Given the description of an element on the screen output the (x, y) to click on. 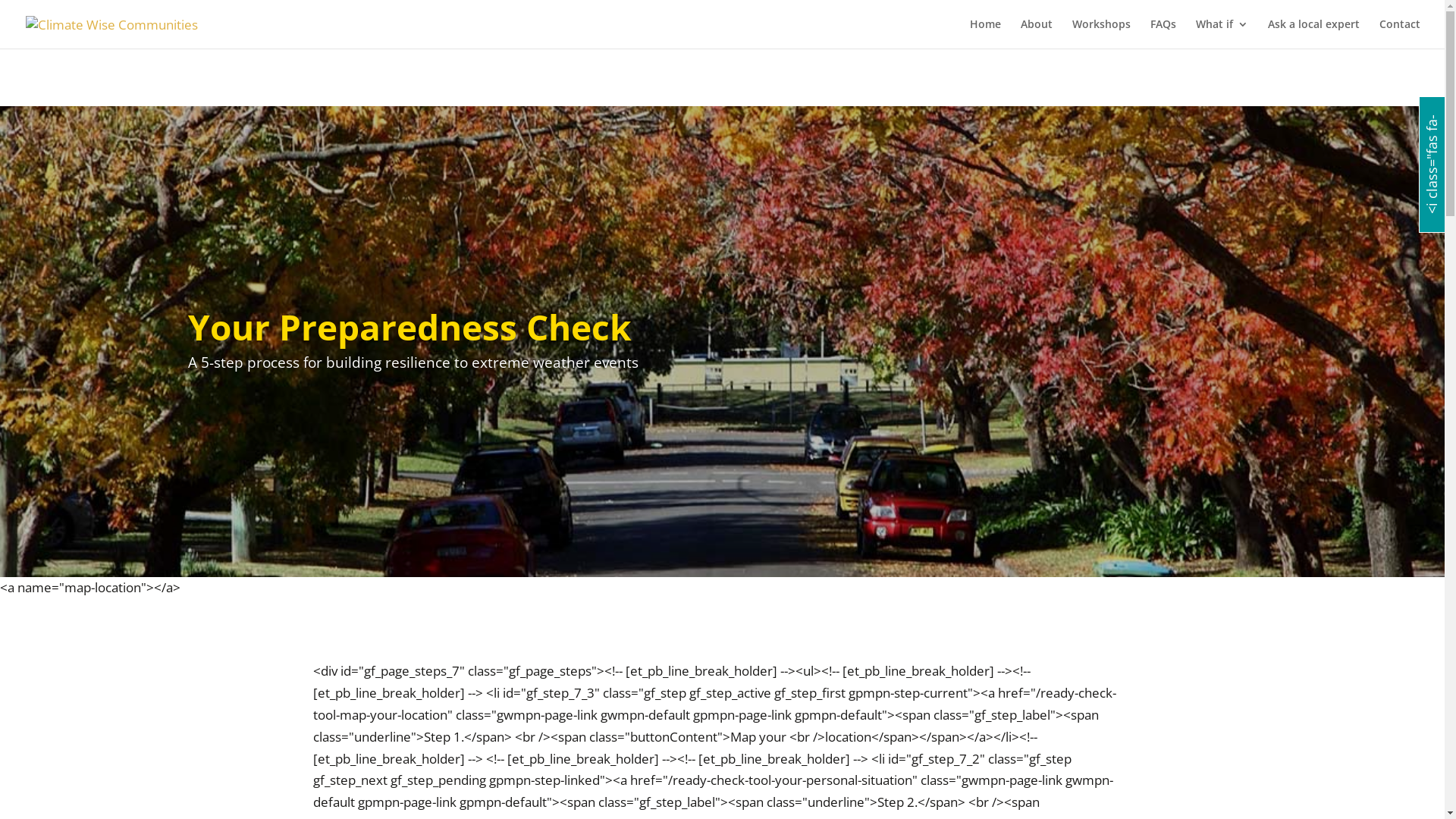
Workshops Element type: text (1101, 33)
Toggle Font size Element type: text (53, 33)
FAQs Element type: text (1163, 33)
About Element type: text (1036, 33)
Toggle High Contrast Element type: text (67, 10)
Check my property Element type: text (49, 9)
What if Element type: text (1221, 33)
Contact Element type: text (1399, 33)
Home Element type: text (985, 33)
Ask a local expert Element type: text (1313, 33)
